Given the description of an element on the screen output the (x, y) to click on. 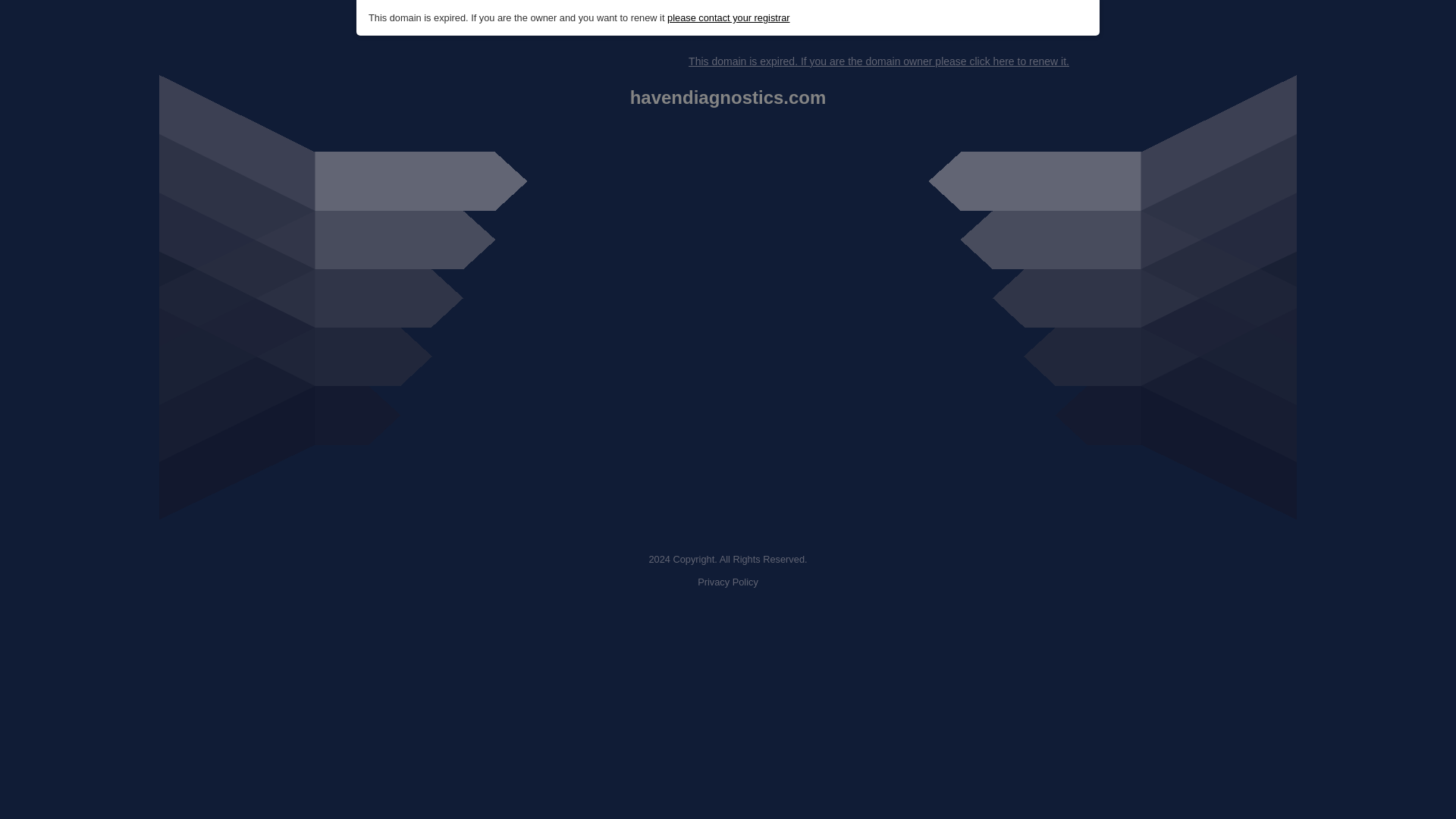
please contact your registrar (727, 17)
Privacy Policy (727, 582)
